Given the description of an element on the screen output the (x, y) to click on. 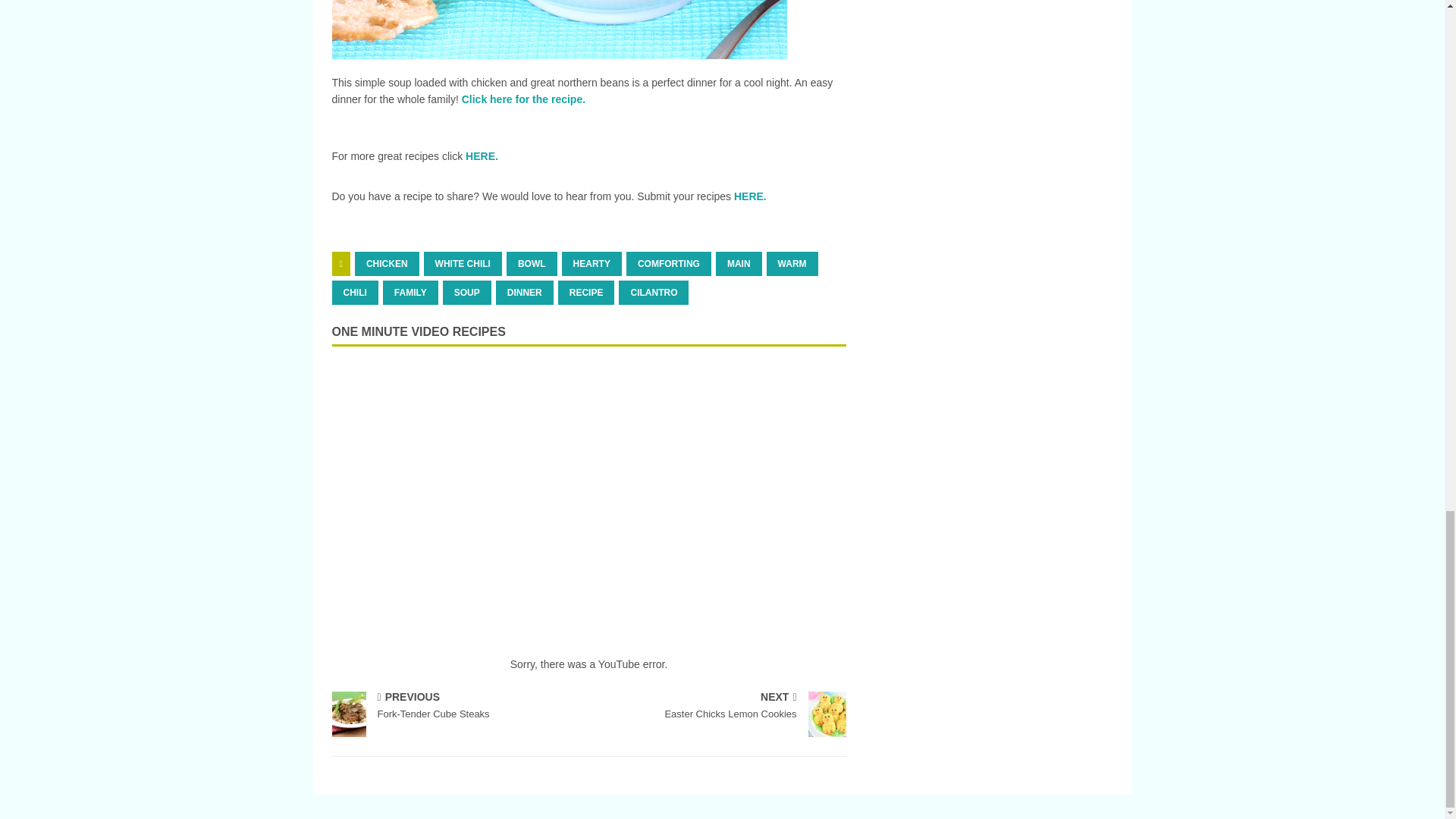
WHITE CHILI (462, 263)
HEARTY (591, 263)
HERE. (750, 196)
HERE. (481, 155)
BOWL (531, 263)
CHICKEN (387, 263)
Click here for the recipe. (523, 99)
